Given the description of an element on the screen output the (x, y) to click on. 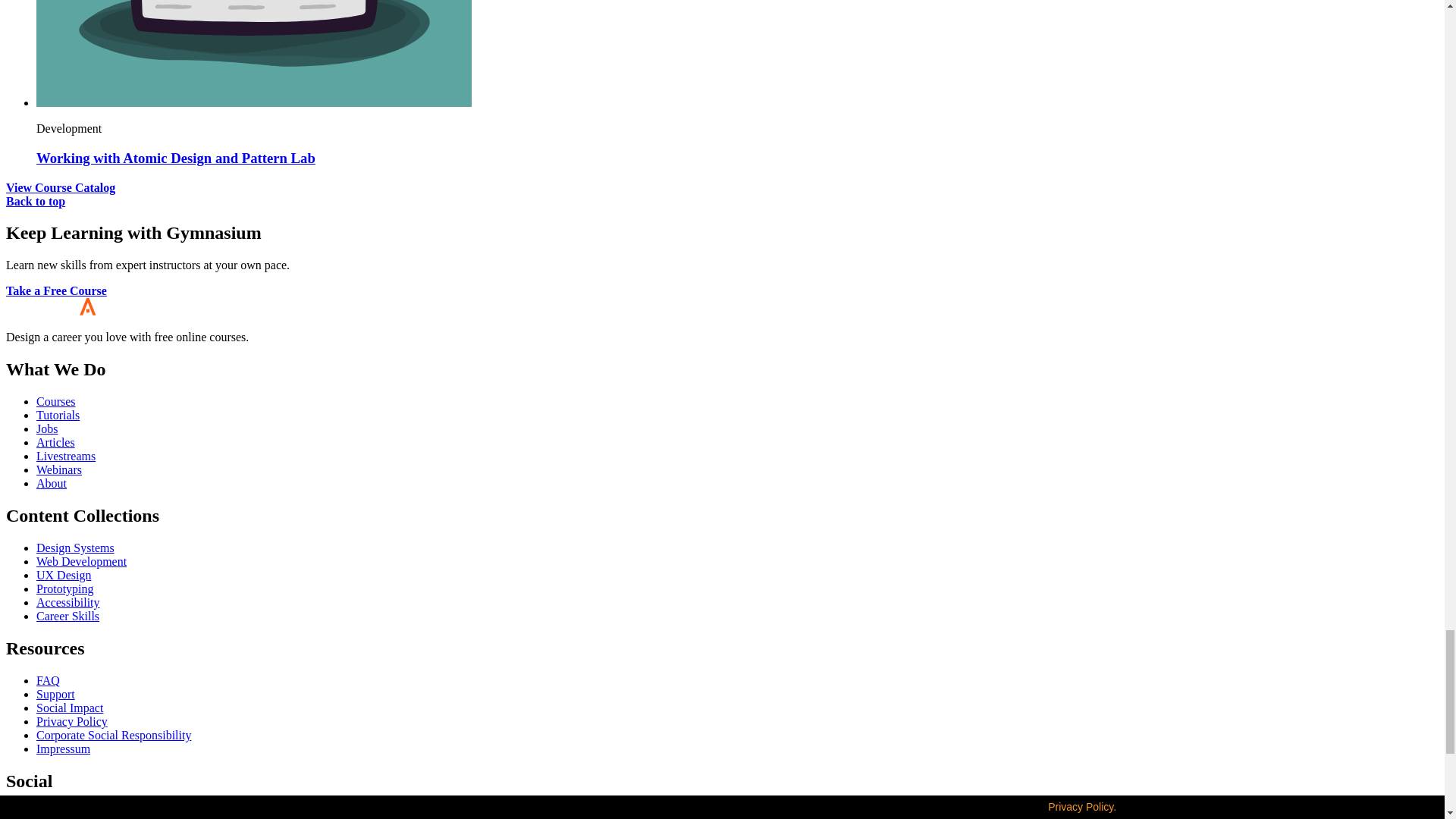
Gymnasium Homepage (81, 310)
